Given the description of an element on the screen output the (x, y) to click on. 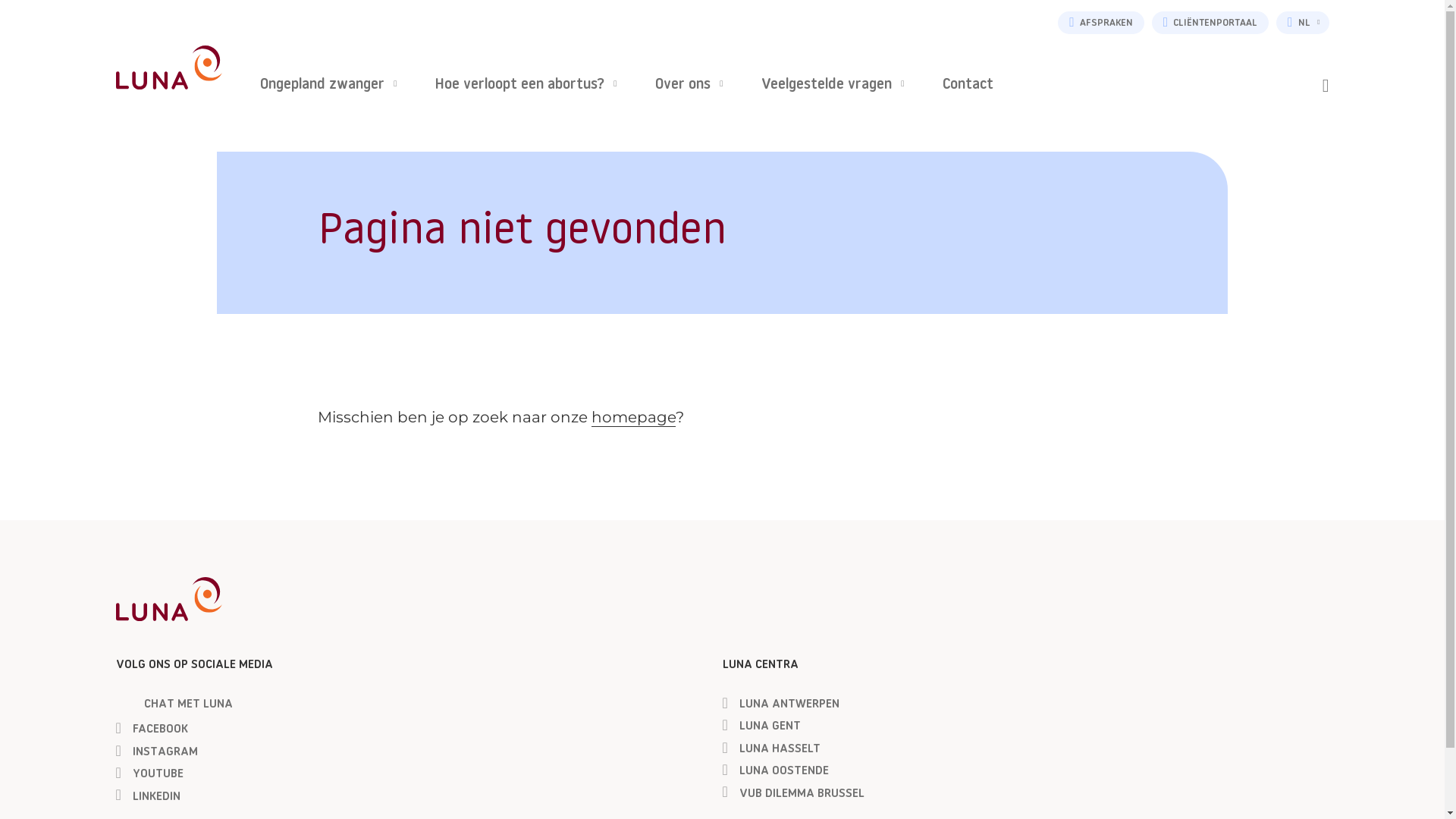
LUNA GENT Element type: text (760, 727)
Hoe verloopt een abortus? Element type: text (526, 85)
Contact Element type: text (966, 85)
VUB DILEMMA BRUSSEL Element type: text (792, 794)
LUNA ANTWERPEN Element type: text (779, 705)
NL Element type: text (1302, 22)
Veelgestelde vragen Element type: text (832, 85)
LUNA OOSTENDE Element type: text (774, 771)
Ongepland zwanger Element type: text (327, 85)
AFSPRAKEN Element type: text (1100, 22)
CHAT MET LUNA Element type: text (173, 705)
FACEBOOK Element type: text (151, 730)
LINKEDIN Element type: text (147, 797)
INSTAGRAM Element type: text (156, 752)
LUNA HASSELT Element type: text (770, 749)
Over ons Element type: text (689, 85)
homepage Element type: text (633, 416)
YOUTUBE Element type: text (148, 774)
